Given the description of an element on the screen output the (x, y) to click on. 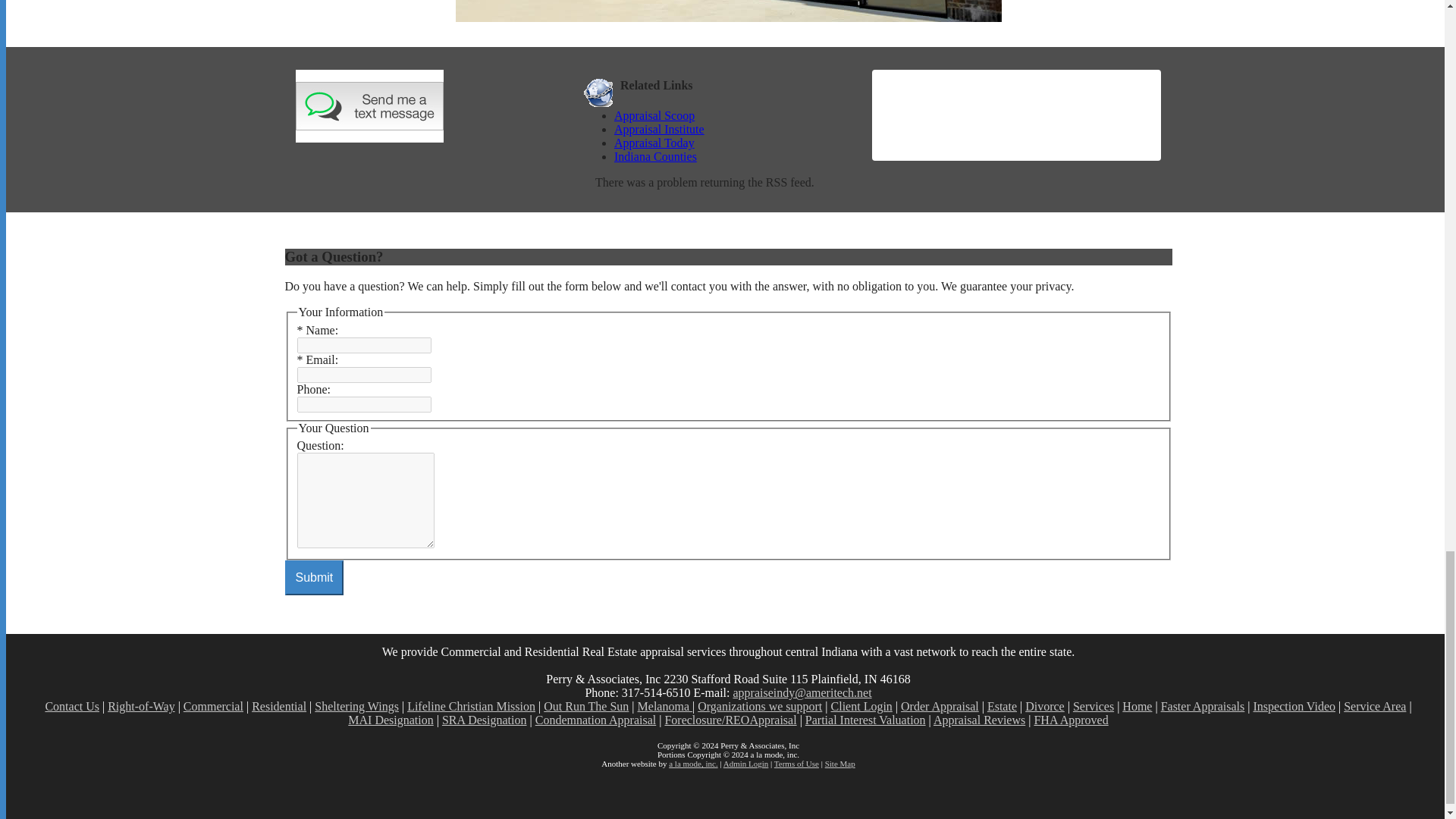
Appraisal Institute (732, 129)
Appraisal Institute (659, 128)
Appraisal Scoop (654, 115)
Appraisal Today (732, 142)
Appraisal Scoop (732, 115)
Indiana Counties (732, 156)
Indiana Counties (655, 155)
Appraisal Today (654, 142)
Submit (314, 577)
